Given the description of an element on the screen output the (x, y) to click on. 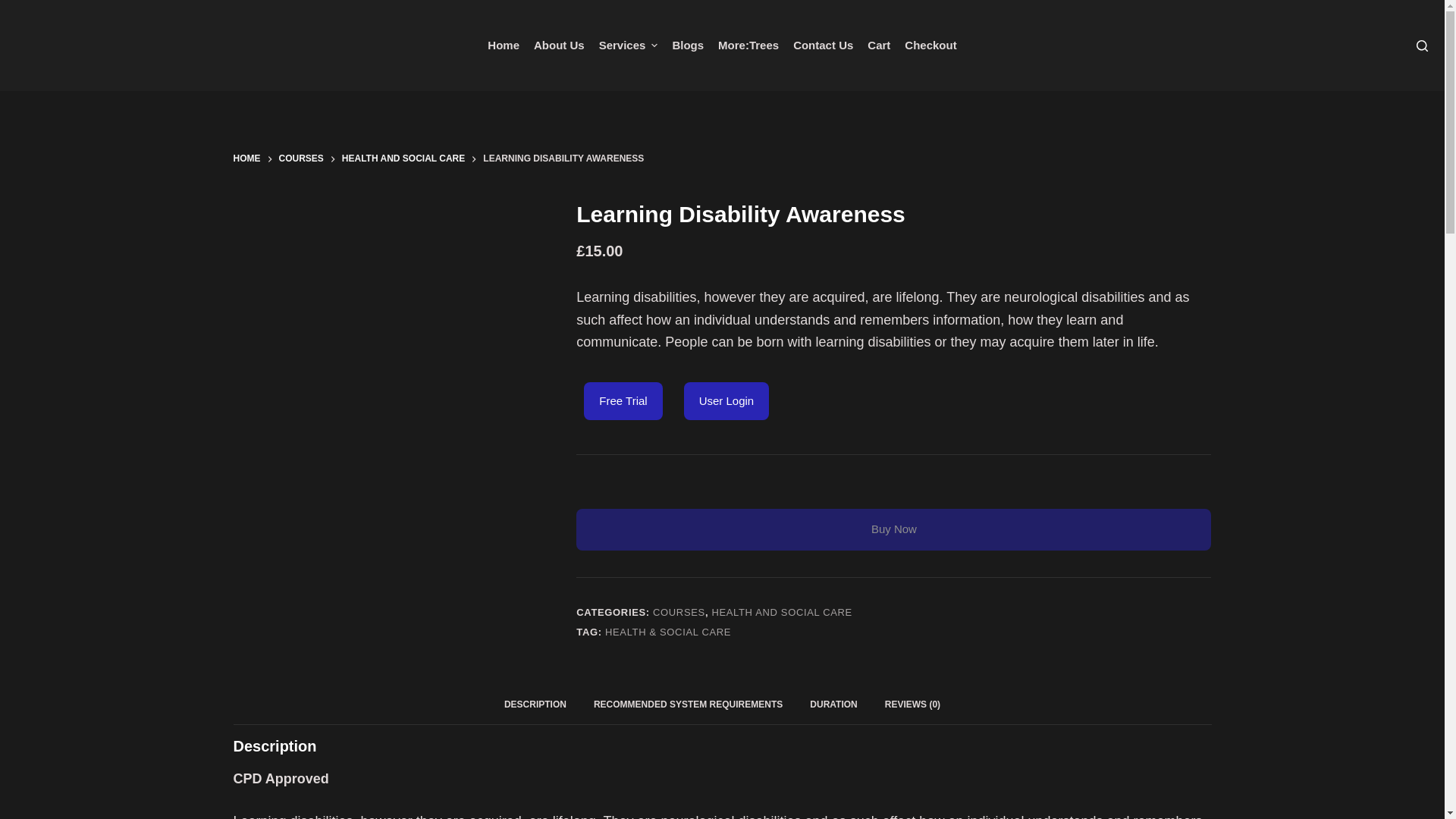
Services (628, 45)
Skip to content (15, 7)
About Us (558, 45)
Home (503, 45)
